Given the description of an element on the screen output the (x, y) to click on. 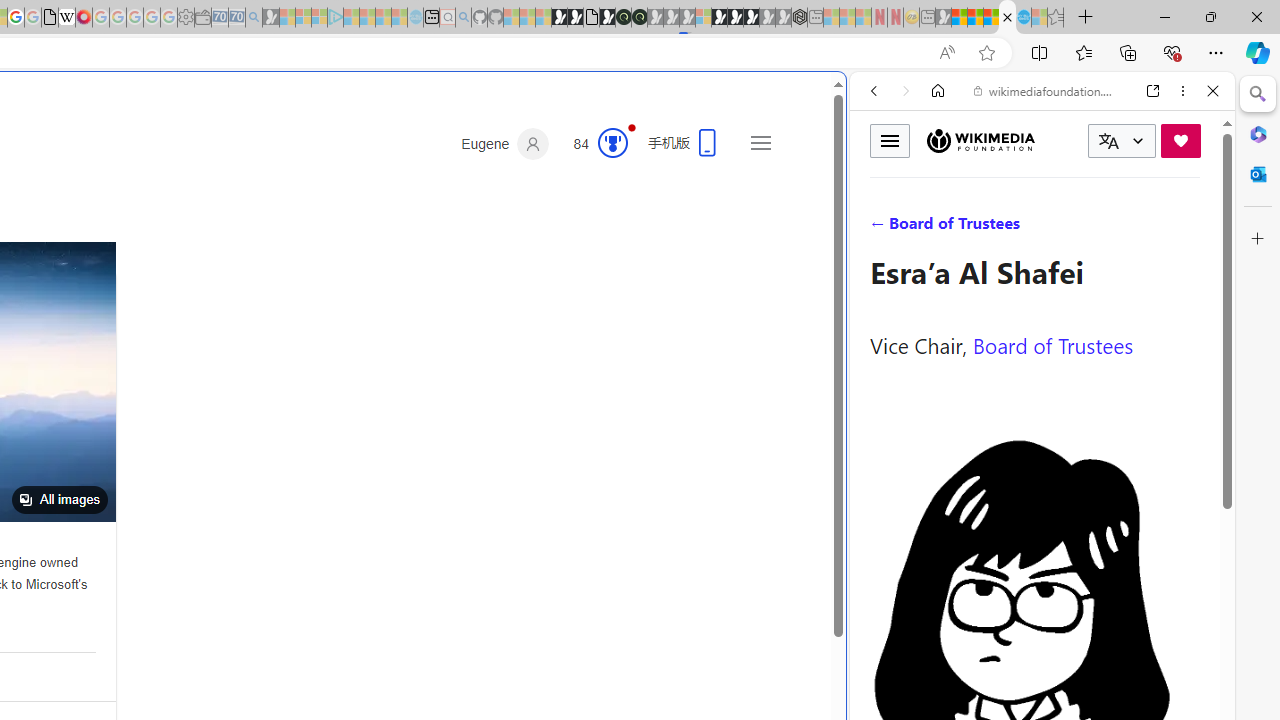
Wallet - Sleeping (202, 17)
Bing Real Estate - Home sales and rental listings - Sleeping (253, 17)
Target page - Wikipedia (66, 17)
Play Cave FRVR in your browser | Games from Microsoft Start (343, 426)
Forward (906, 91)
